Given the description of an element on the screen output the (x, y) to click on. 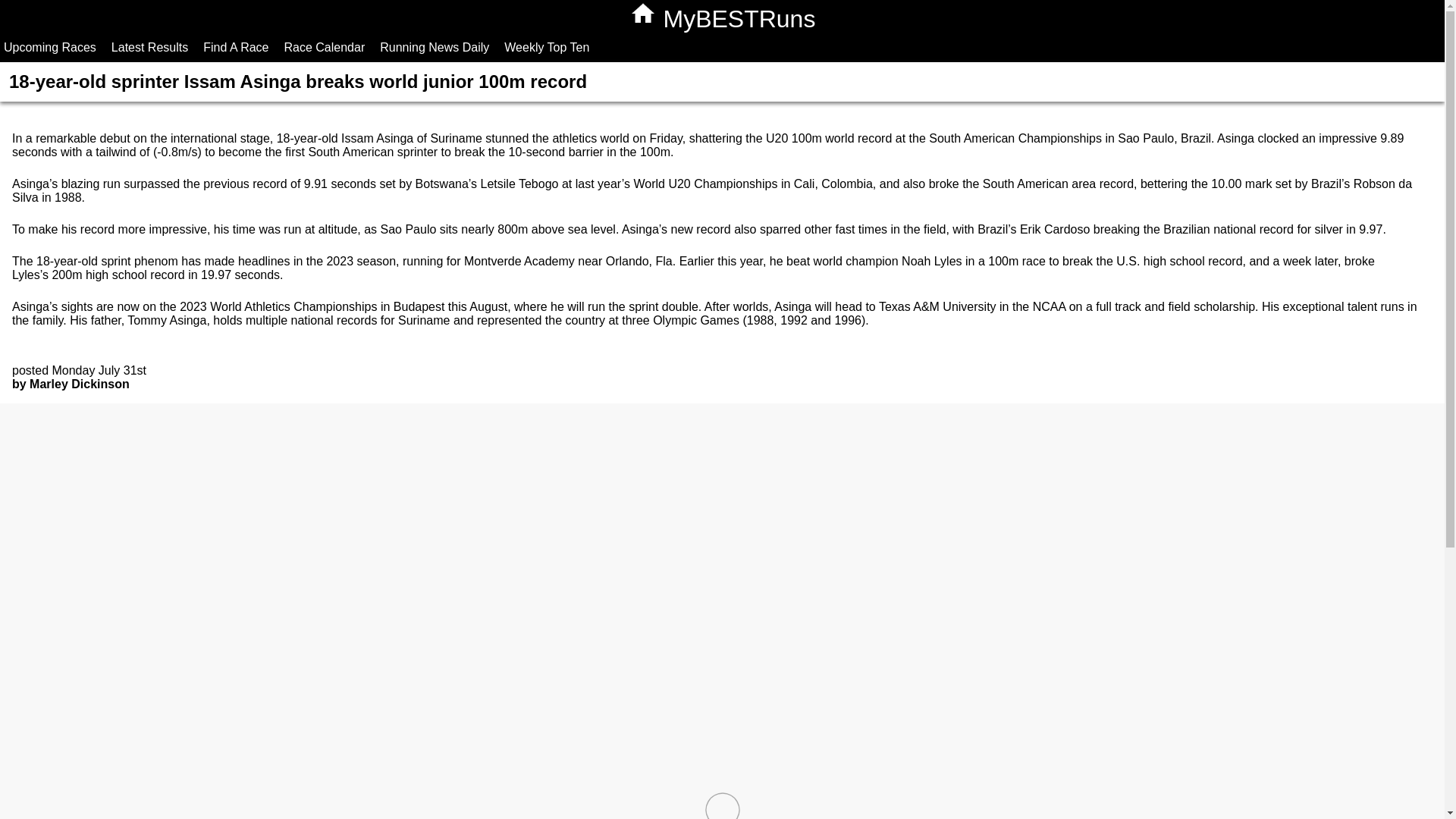
Upcoming Races (50, 47)
Race Calendar (325, 47)
Running News Daily (434, 47)
Latest Results (149, 47)
Upcoming Races (50, 47)
Race Calendar (325, 47)
Weekly Top Ten (546, 47)
Find A Race (235, 47)
Find A Race (235, 47)
Latest Results (149, 47)
Running News Daily (434, 47)
Weekly Top Ten (546, 47)
